Given the description of an element on the screen output the (x, y) to click on. 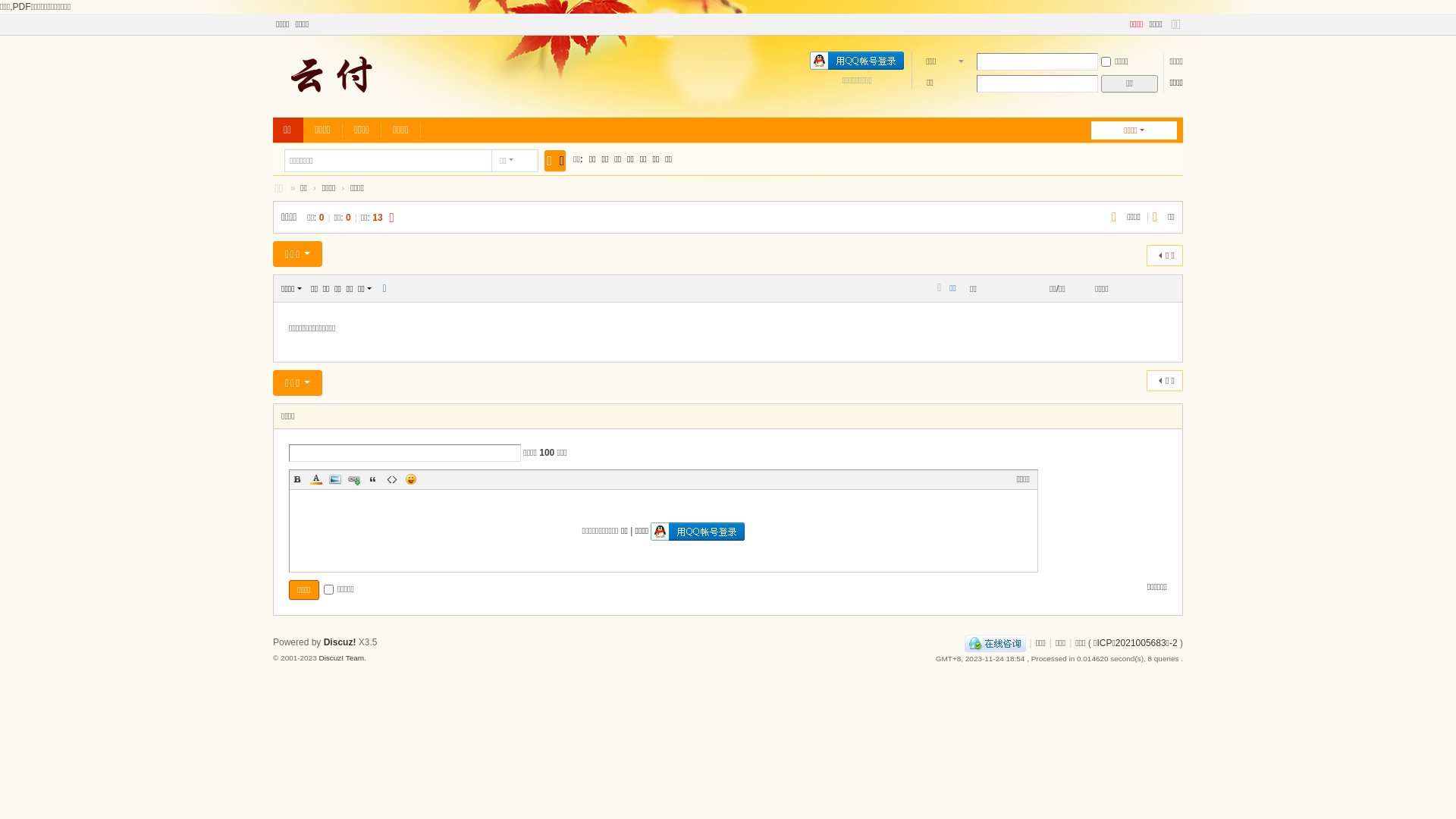
Image Element type: text (334, 478)
Code Element type: text (391, 478)
B Element type: text (296, 478)
Link Element type: text (353, 478)
Discuz! Team Element type: text (341, 657)
Quote Element type: text (372, 478)
Color Element type: text (315, 478)
Smilies Element type: text (410, 478)
Discuz! Element type: text (339, 642)
QQ Element type: hover (995, 642)
